Given the description of an element on the screen output the (x, y) to click on. 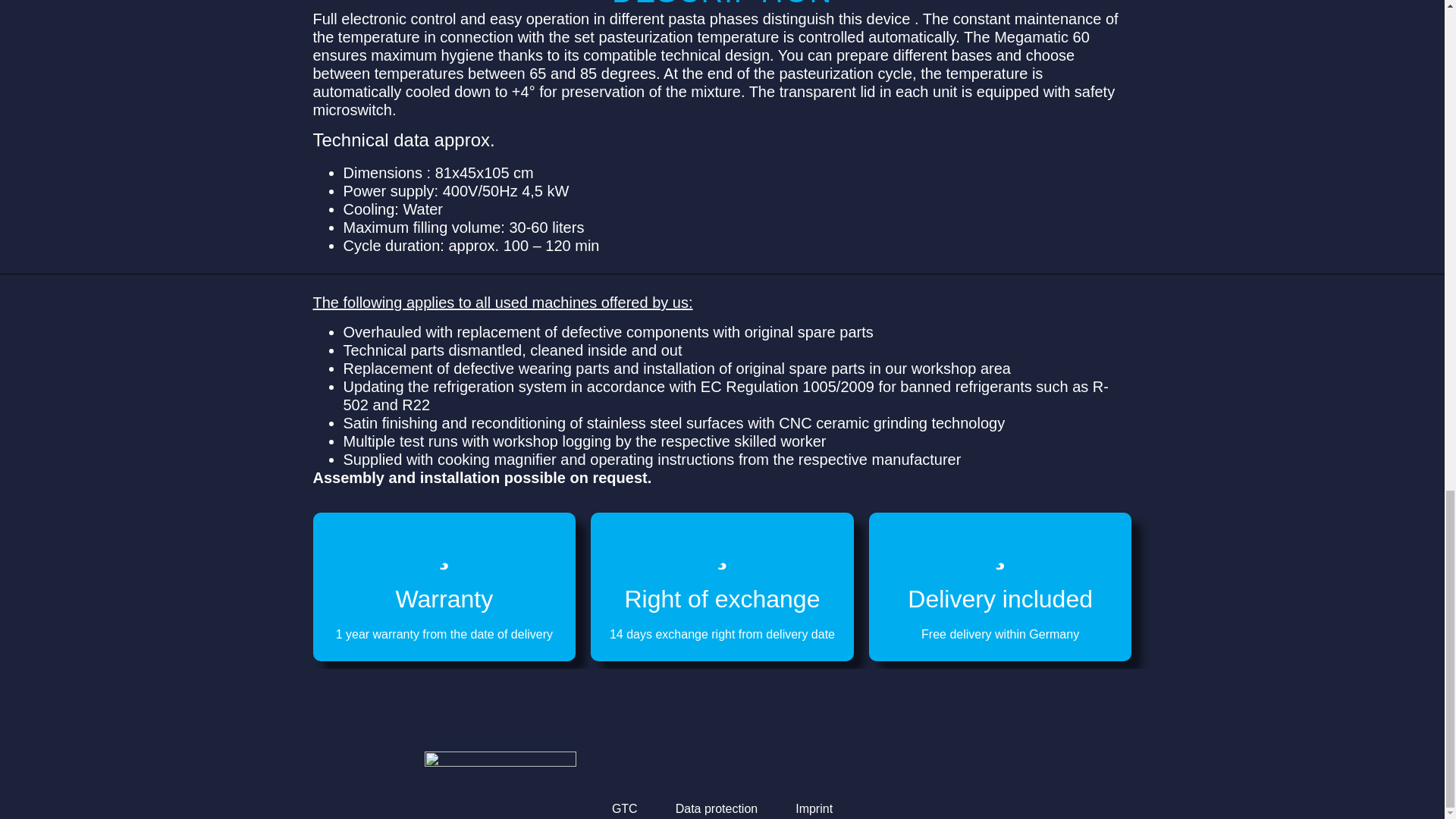
GTC (624, 809)
Imprint (813, 809)
Data protection (716, 809)
